Given the description of an element on the screen output the (x, y) to click on. 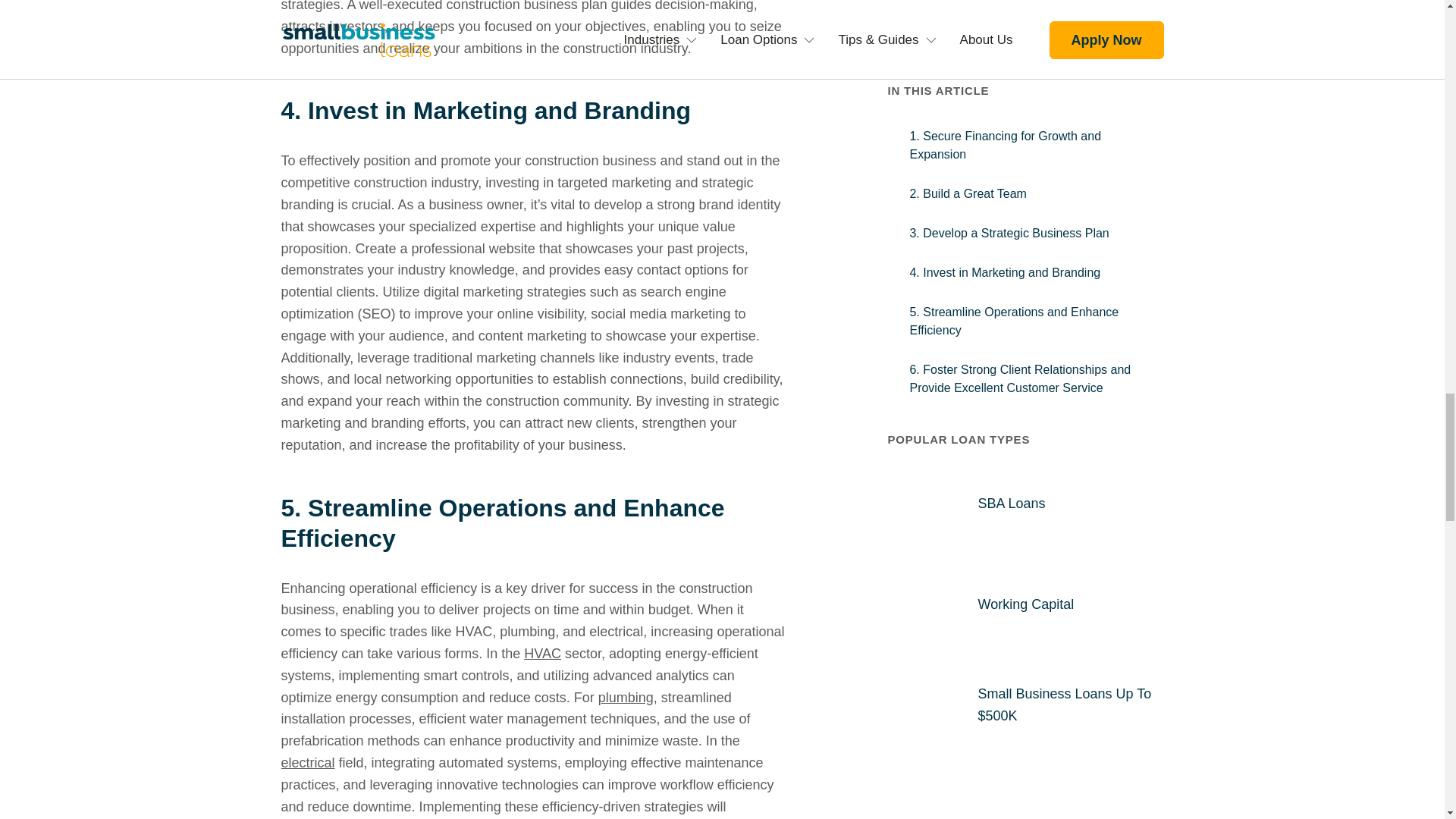
plumbing, (628, 697)
4. Invest in Marketing and Branding (532, 110)
5. Streamline Operations and Enhance Efficiency (532, 523)
HVAC (542, 653)
electrical (307, 762)
